Given the description of an element on the screen output the (x, y) to click on. 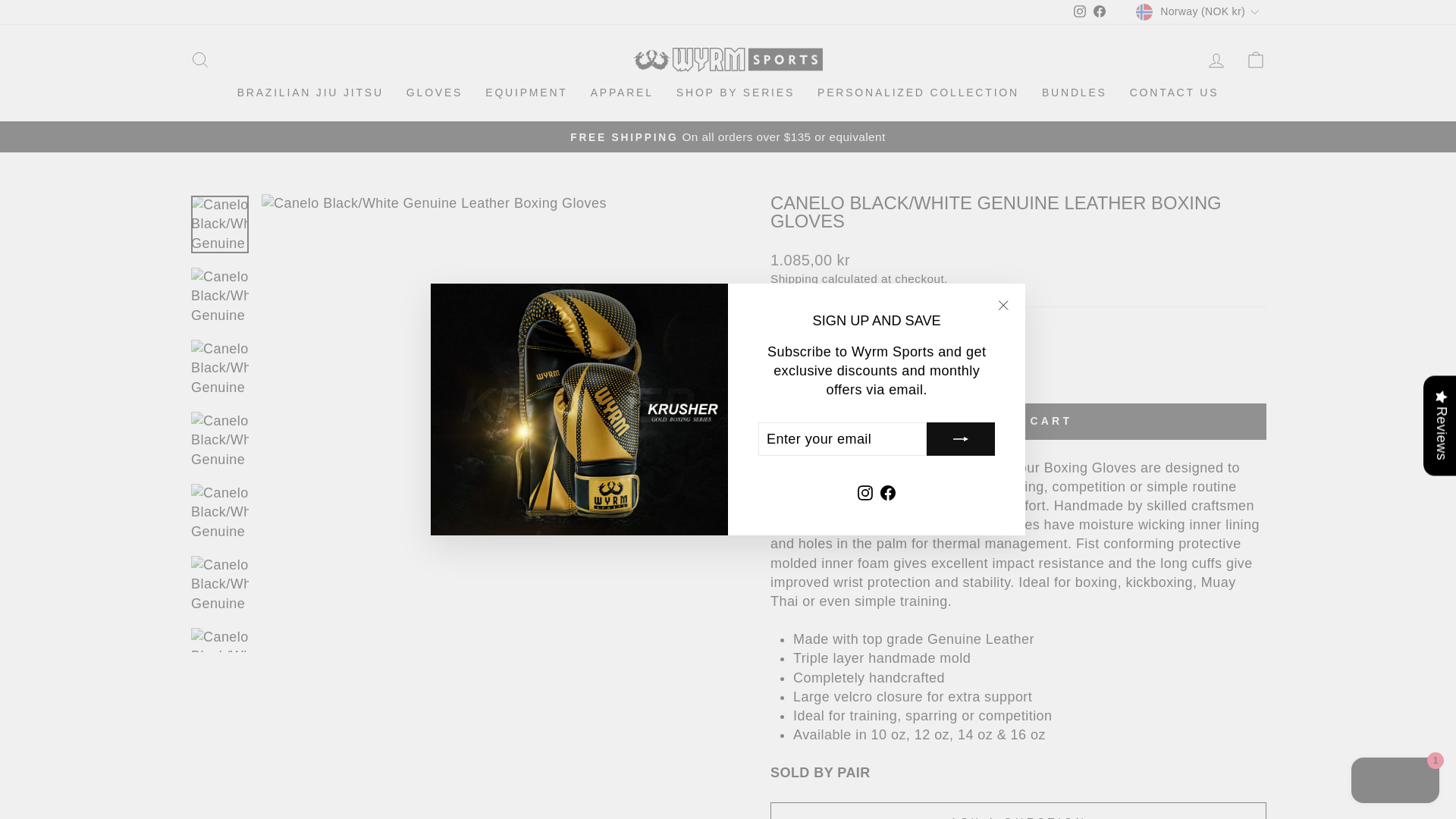
Shopify online store chat (1395, 781)
